Given the description of an element on the screen output the (x, y) to click on. 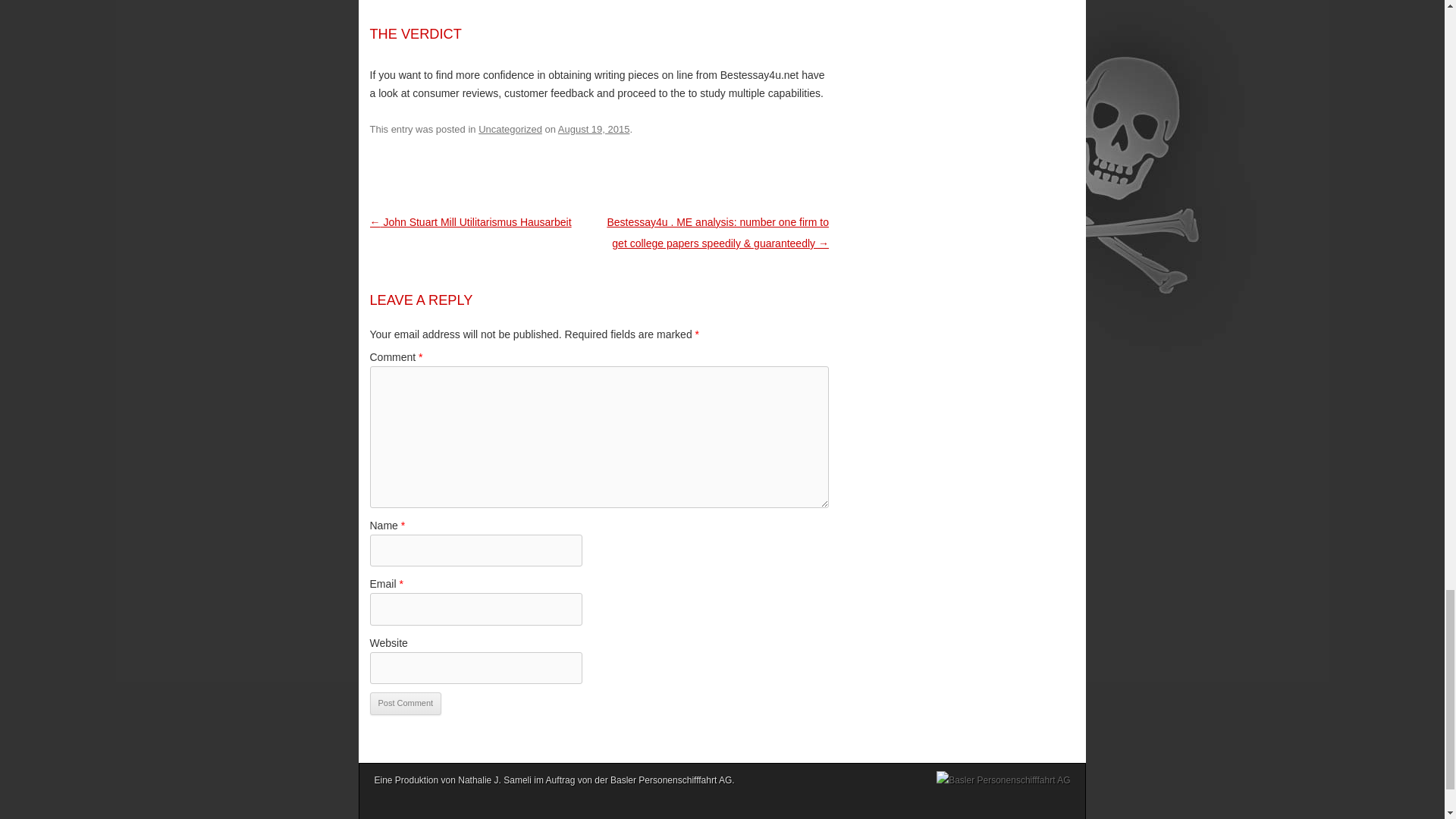
Post Comment (405, 703)
Post Comment (405, 703)
August 19, 2015 (593, 129)
Uncategorized (510, 129)
4:54 pm (593, 129)
